Given the description of an element on the screen output the (x, y) to click on. 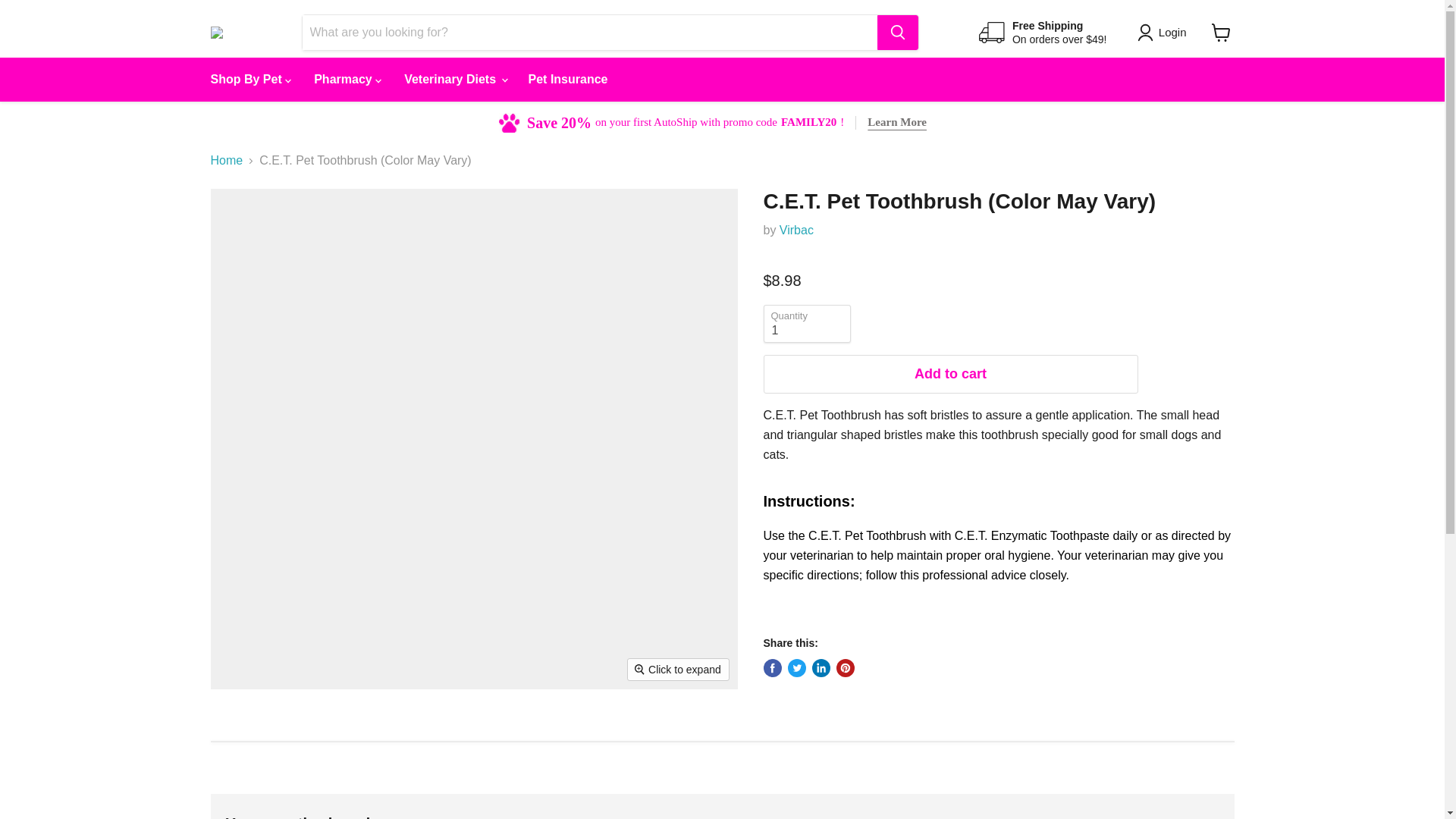
1 (806, 323)
View cart (1221, 32)
Virbac (795, 229)
Login (1172, 32)
